Given the description of an element on the screen output the (x, y) to click on. 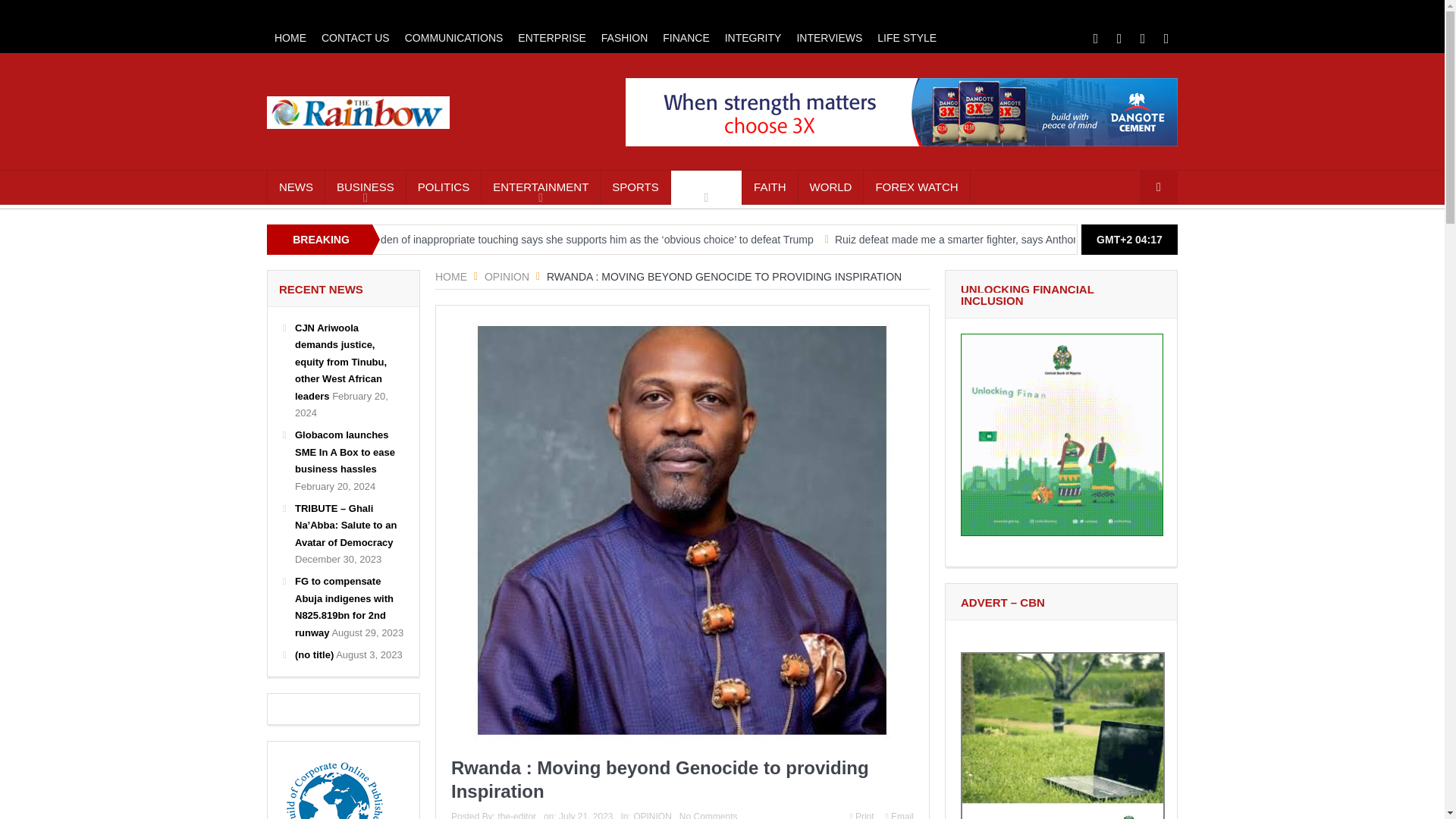
BUSINESS (365, 186)
View all posts in OPINION (652, 815)
LIFE STYLE (906, 37)
FINANCE (685, 37)
INTEGRITY (753, 37)
POLITICS (443, 186)
INTERVIEWS (829, 37)
HOME (290, 37)
NEWS (295, 186)
ENTERPRISE (551, 37)
